Given the description of an element on the screen output the (x, y) to click on. 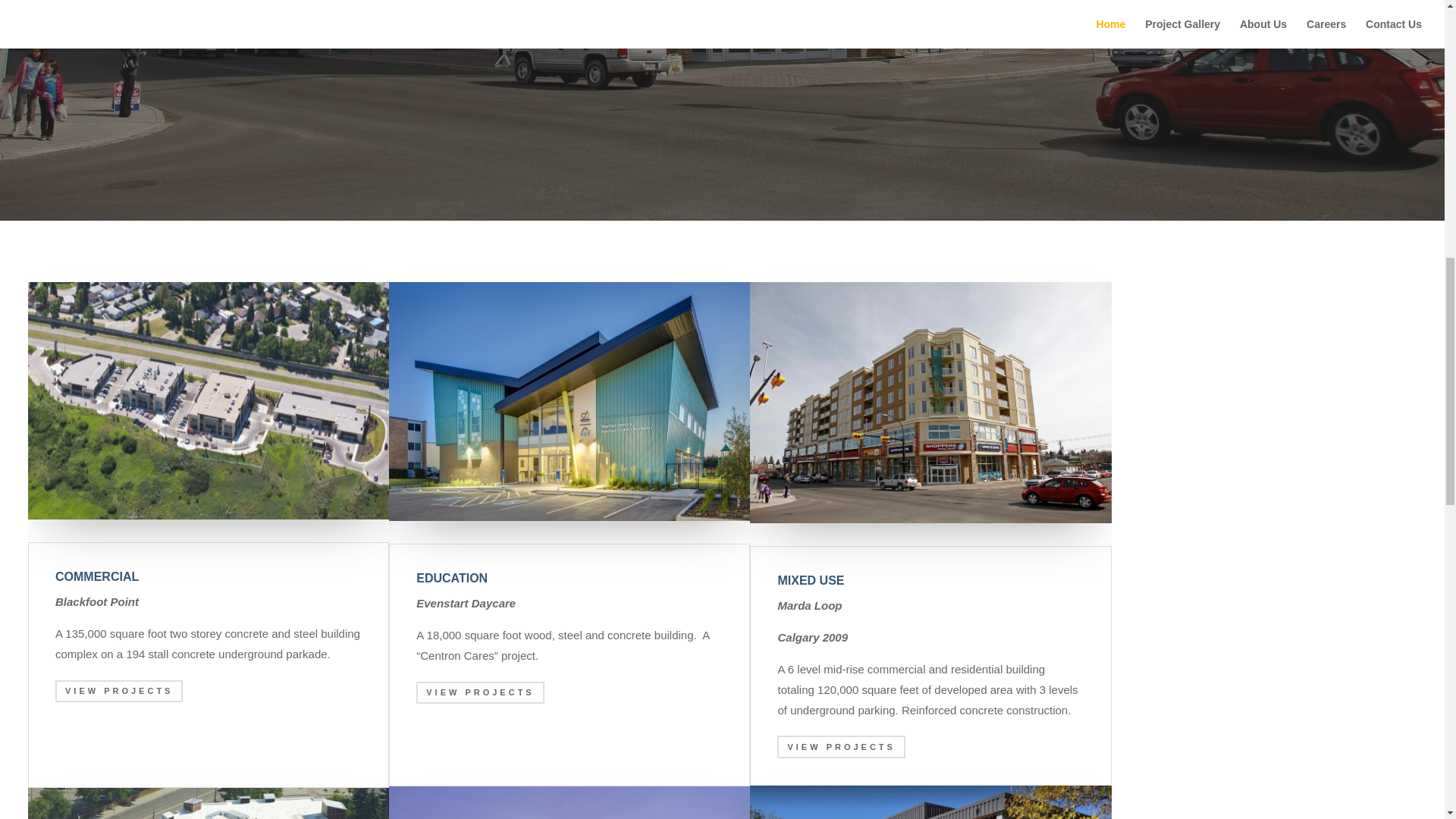
VIEW PROJECTS (840, 746)
VIEW PROJECTS (479, 692)
VIEW PROJECTS (119, 690)
